Given the description of an element on the screen output the (x, y) to click on. 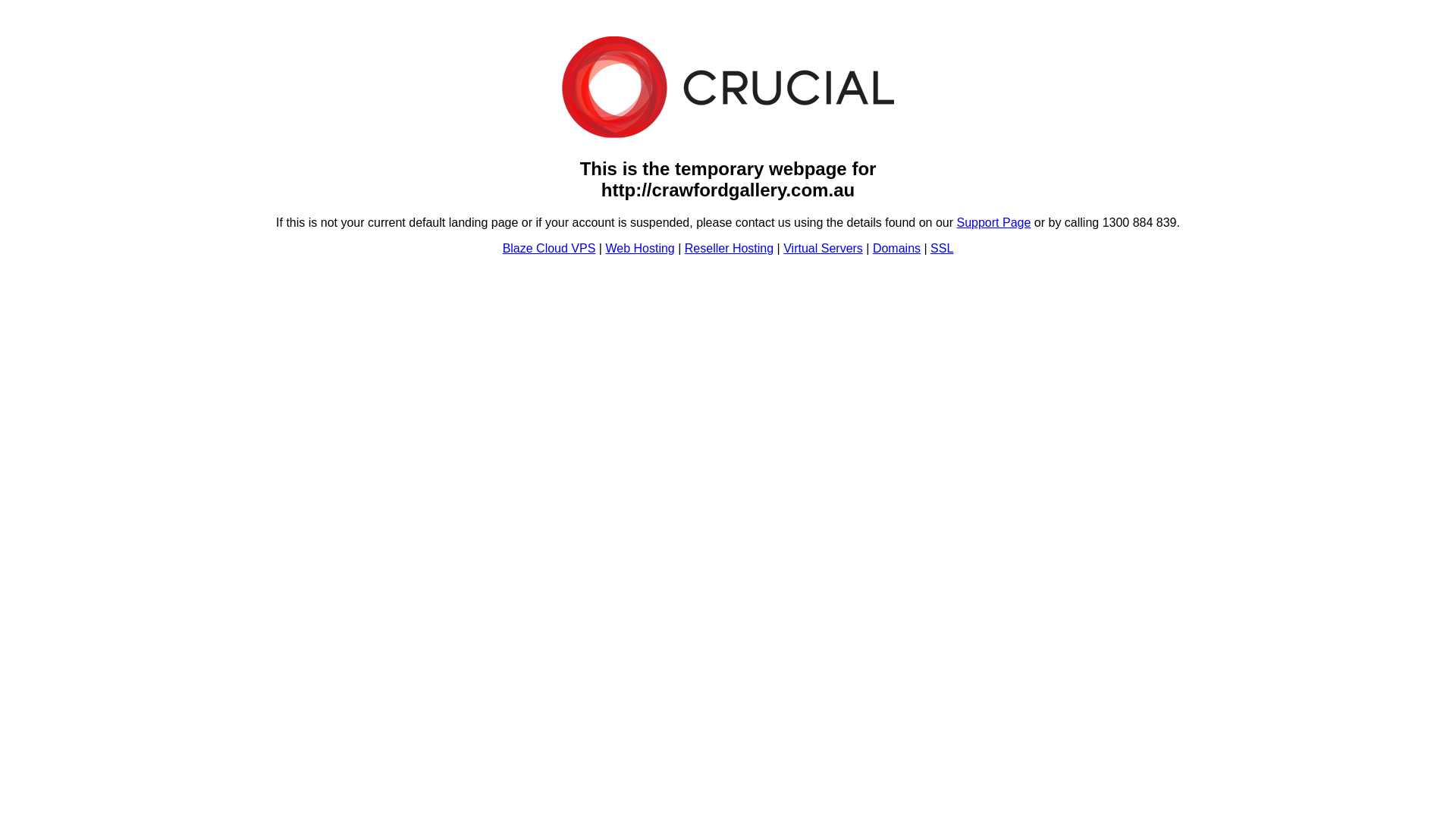
Web Hosting Element type: text (639, 247)
Support Page Element type: text (994, 222)
Domains Element type: text (896, 247)
Blaze Cloud VPS Element type: text (549, 247)
Virtual Servers Element type: text (822, 247)
Reseller Hosting Element type: text (728, 247)
SSL Element type: text (941, 247)
